Given the description of an element on the screen output the (x, y) to click on. 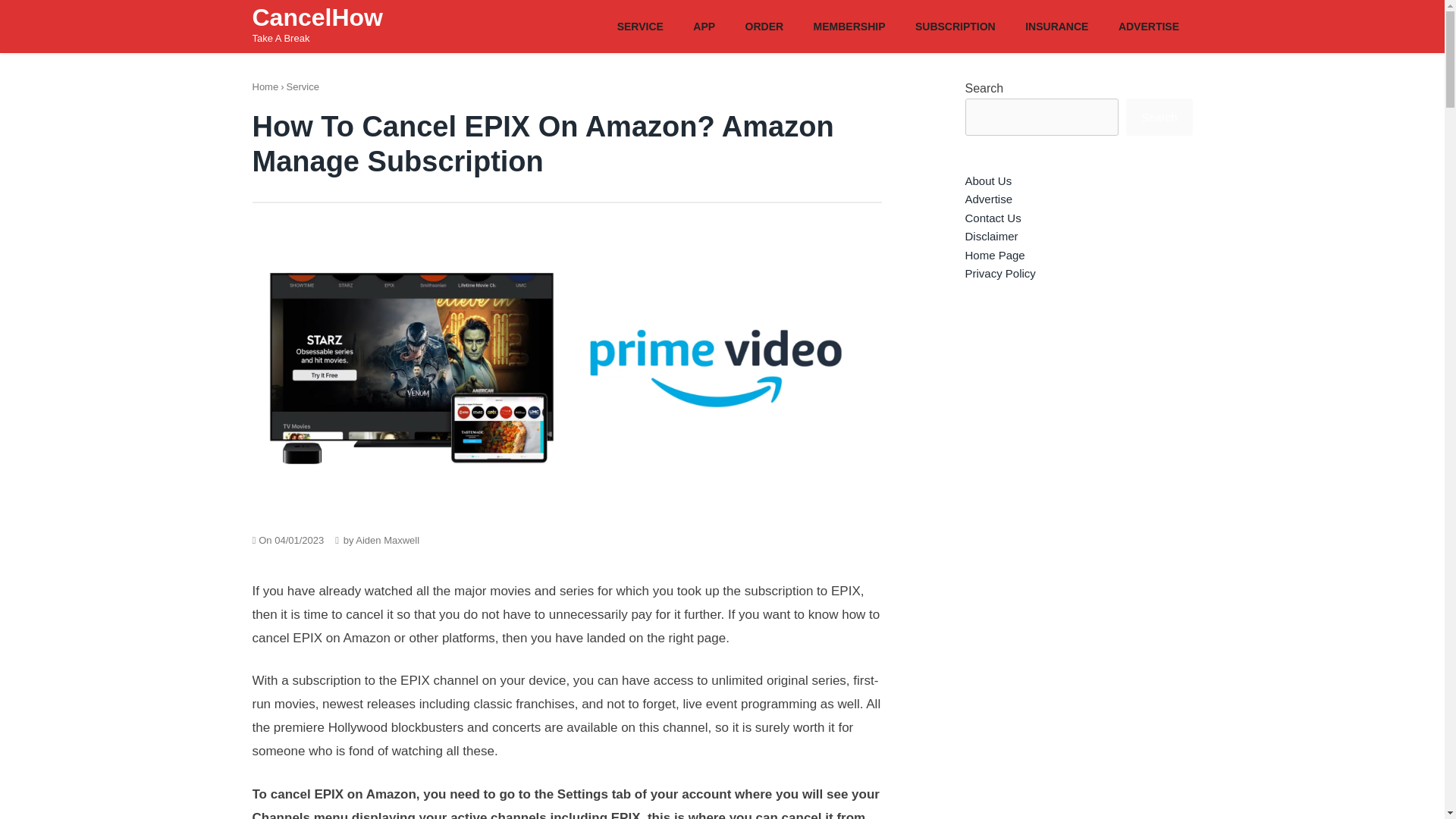
Disclaimer (990, 236)
Advertise (987, 198)
MEMBERSHIP (848, 25)
About Us (987, 180)
Aiden Maxwell (387, 540)
Search (1158, 116)
Contact Us (991, 217)
APP (704, 25)
Service (302, 86)
